Given the description of an element on the screen output the (x, y) to click on. 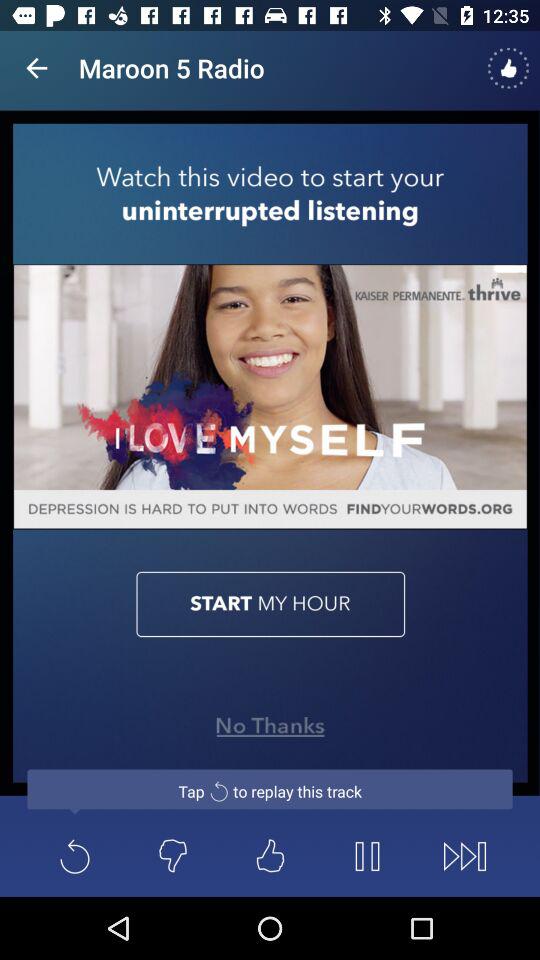
select pause which is after thumb like icon on the page (367, 856)
